Given the description of an element on the screen output the (x, y) to click on. 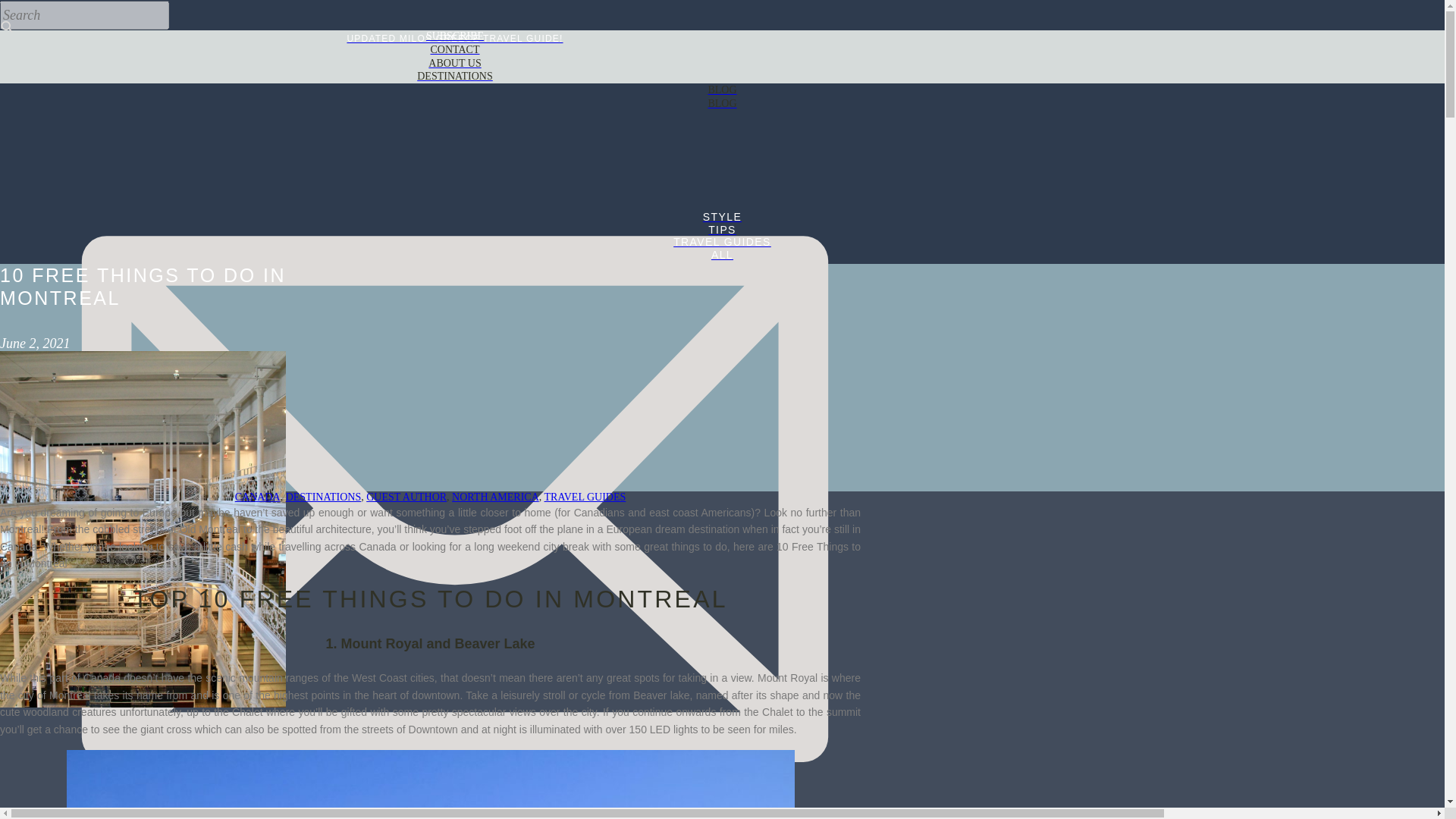
DESTINATIONS (455, 76)
SUBSCRIBE (455, 36)
NORTH AMERICA (494, 496)
TRAVEL GUIDES (585, 496)
CONTACT (455, 50)
DESTINATIONS (323, 496)
UPDATED MILOS GREECE TRAVEL GUIDE! (455, 38)
GUEST AUTHOR (406, 496)
CANADA (257, 496)
ABOUT US (455, 63)
